Given the description of an element on the screen output the (x, y) to click on. 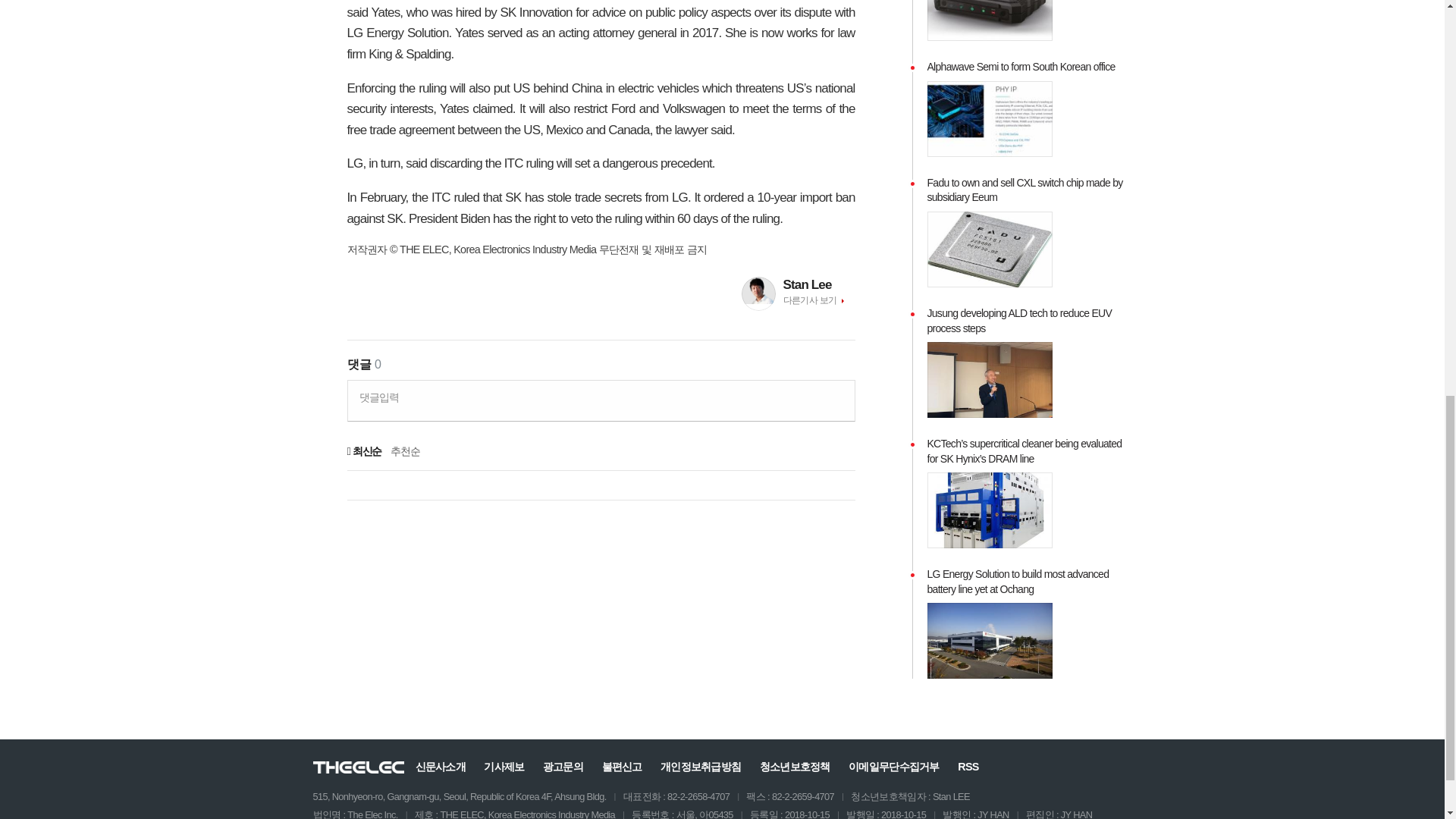
Stan Lee (818, 284)
